Given the description of an element on the screen output the (x, y) to click on. 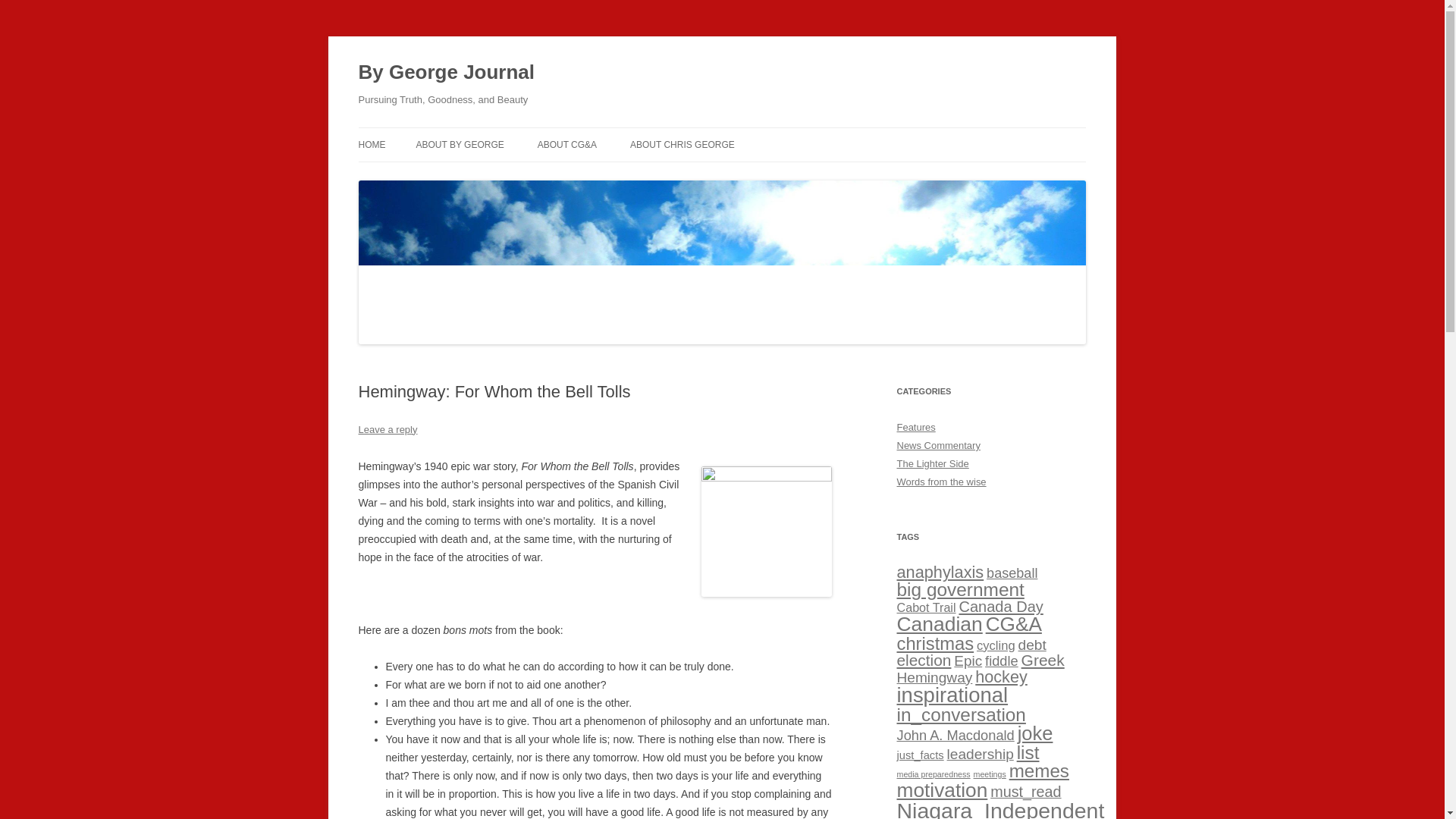
anaphylaxis (940, 571)
The Lighter Side (932, 463)
By George Journal (446, 72)
hockey (1001, 676)
Leave a reply (387, 429)
Epic (967, 660)
ABOUT CHRIS GEORGE (682, 144)
Words from the wise (940, 481)
ABOUT BY GEORGE (458, 144)
christmas (935, 643)
